Given the description of an element on the screen output the (x, y) to click on. 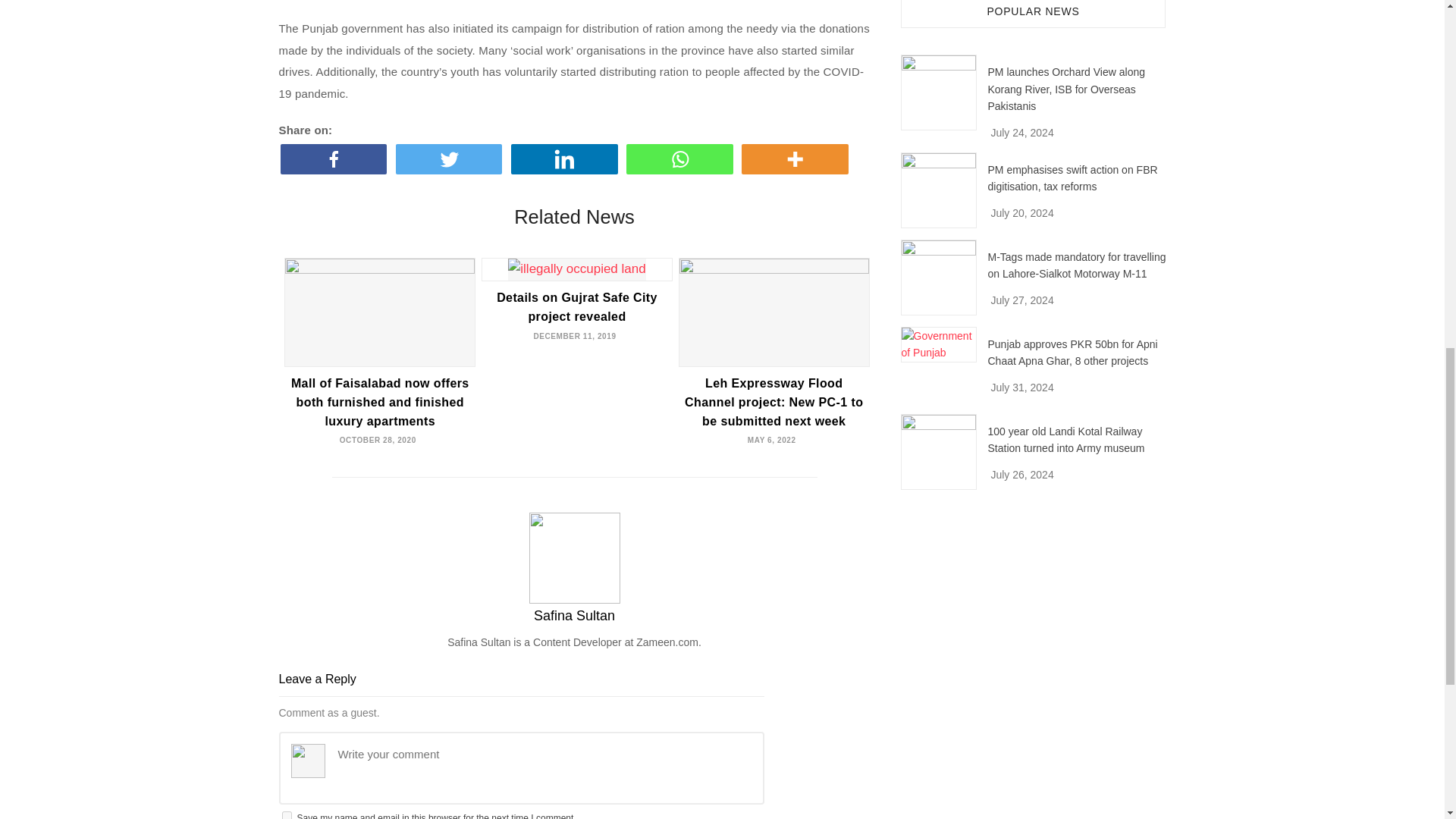
Twitter (452, 159)
PM emphasises swift action on FBR digitisation, tax reforms (1072, 177)
Linkedin (567, 159)
PM emphasises swift action on FBR digitisation, tax reforms (1072, 177)
Facebook (337, 159)
Whatsapp (682, 159)
PM emphasises swift action on FBR digitisation, tax reforms (938, 190)
